Given the description of an element on the screen output the (x, y) to click on. 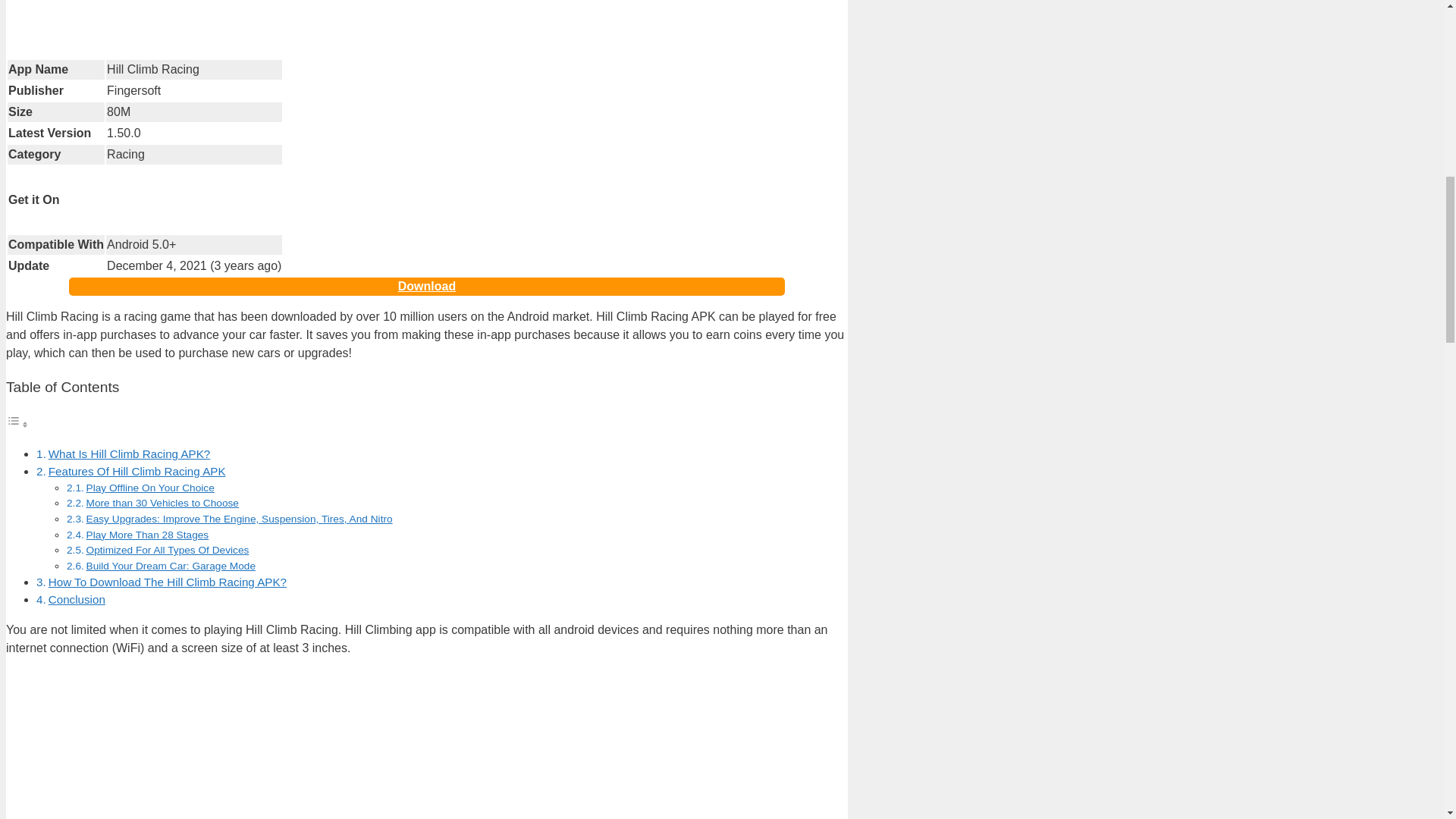
Conclusion (76, 599)
Features Of Hill Climb Racing APK (136, 471)
What Is Hill Climb Racing APK? (129, 453)
Features Of Hill Climb Racing APK (136, 471)
Optimized For All Types Of Devices (166, 550)
Play Offline On Your Choice (149, 487)
Conclusion (76, 599)
Build Your Dream Car: Garage Mode (170, 565)
